Given the description of an element on the screen output the (x, y) to click on. 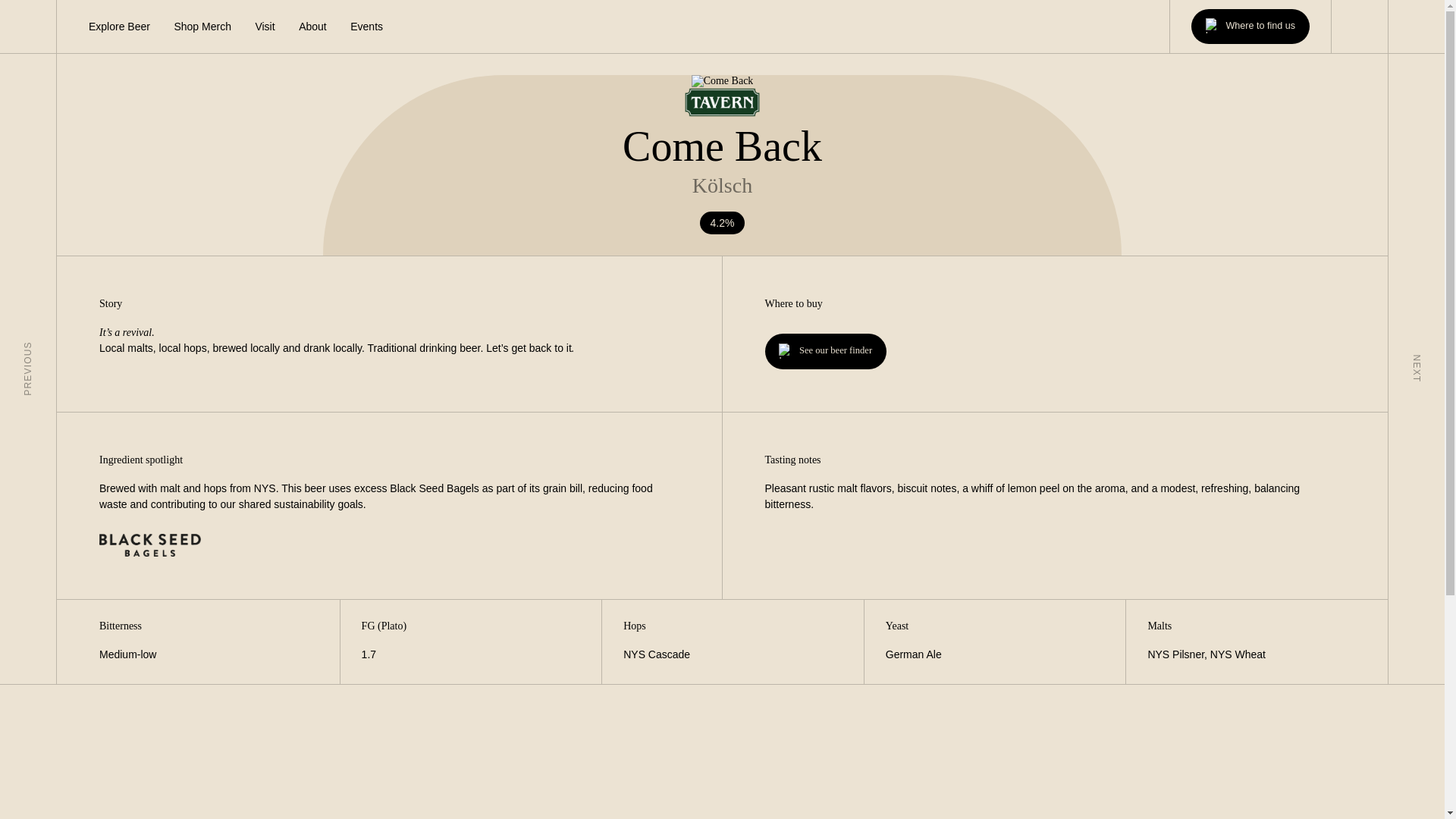
Events (366, 25)
Shop Merch (202, 25)
Explore Beer (119, 25)
Shop Merch (202, 25)
About (312, 25)
Where to find us (1249, 26)
Explore Beer (119, 25)
Cart (1416, 26)
Visit (264, 25)
Return Brewing (28, 26)
Events (366, 25)
About (312, 25)
See our beer finder (825, 350)
Visit (264, 25)
Instagram (1359, 26)
